Given the description of an element on the screen output the (x, y) to click on. 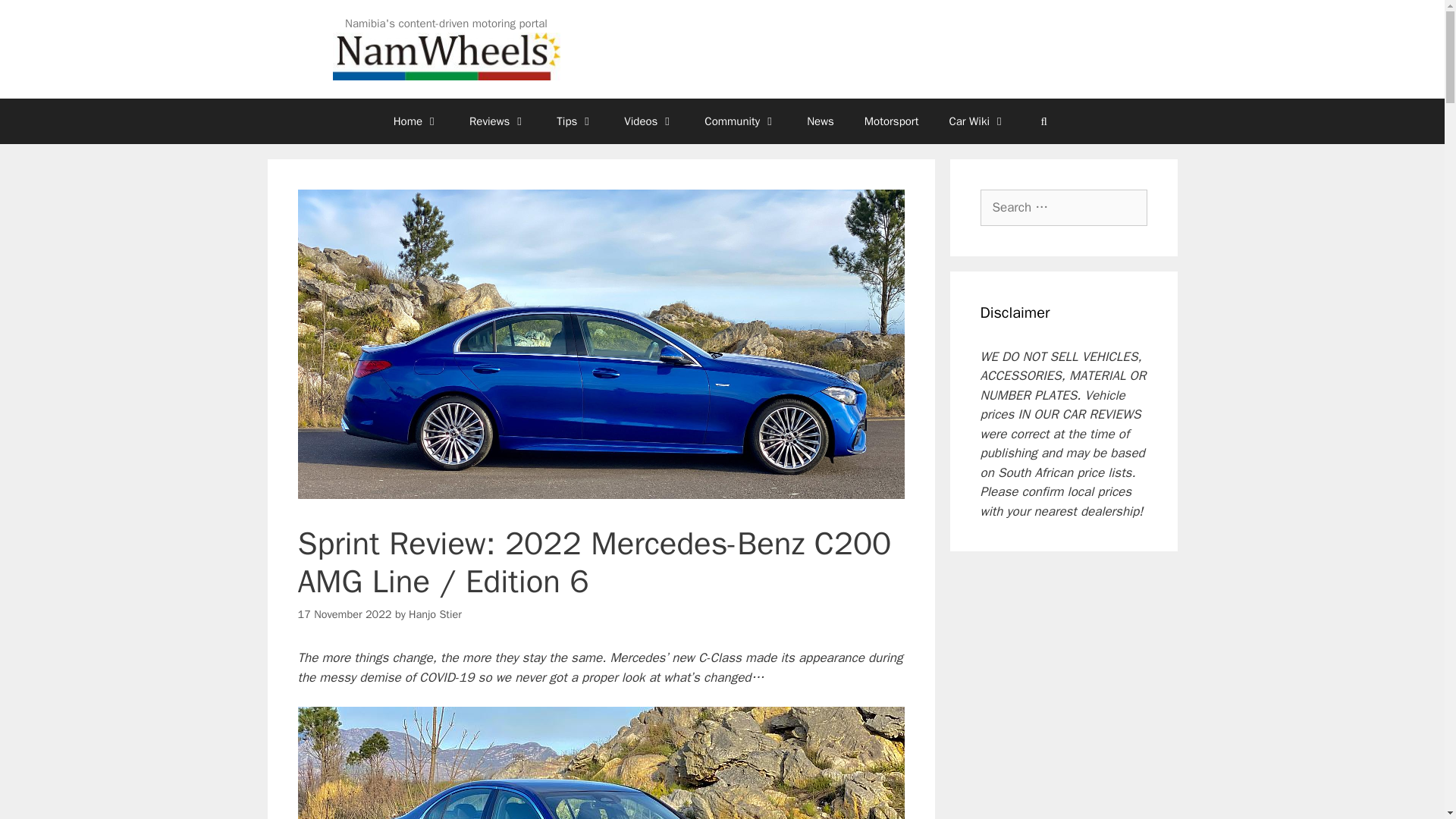
Search for: (1063, 207)
Tips (574, 121)
Videos (648, 121)
Home (416, 121)
Reviews (497, 121)
Advertisement (1137, 49)
View all posts by Hanjo Stier (435, 612)
